Given the description of an element on the screen output the (x, y) to click on. 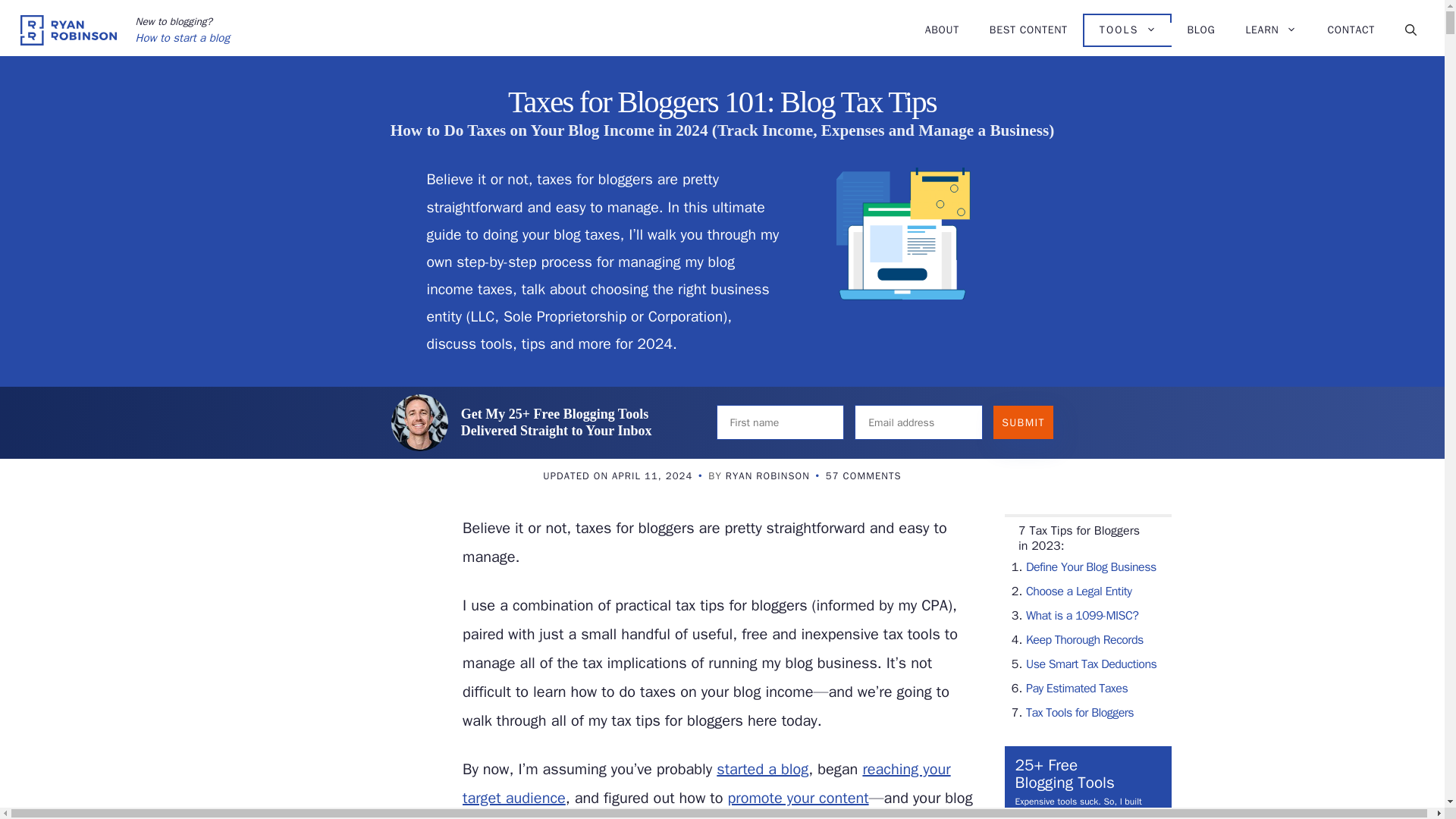
Use Smart Tax Deductions (1091, 663)
started a blog (762, 769)
Tax Tools for Bloggers (1080, 712)
promote your content (796, 797)
BEST CONTENT (1028, 30)
ABOUT (942, 30)
June 12, 2023 11:30 AM (618, 475)
RYAN ROBINSON (767, 475)
reaching your target audience (706, 783)
